Given the description of an element on the screen output the (x, y) to click on. 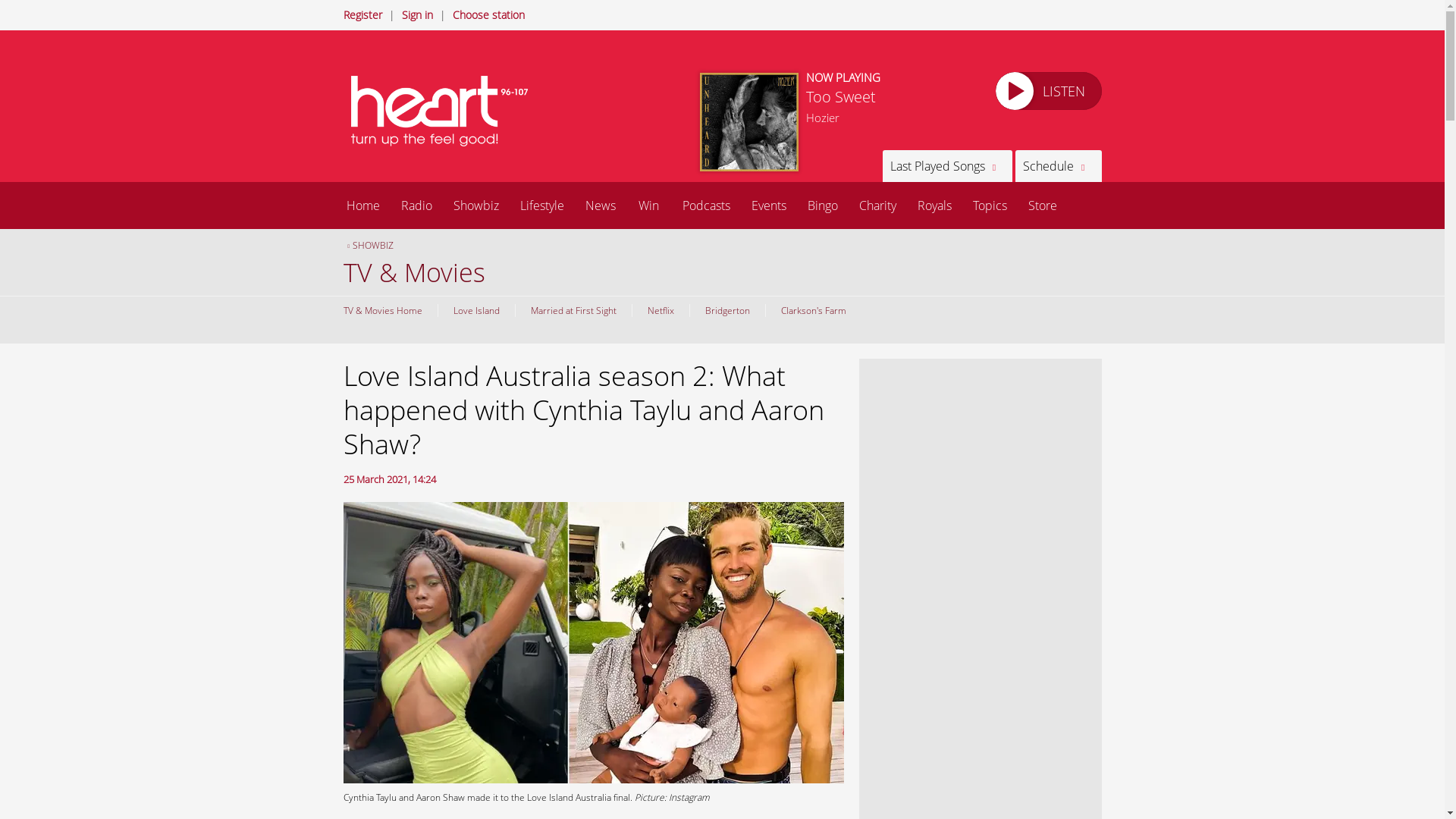
Bingo (821, 205)
Schedule (1057, 165)
Choose station (487, 14)
Charity (876, 205)
Last Played Songs (946, 165)
Showbiz (475, 205)
Sign in (416, 14)
LISTEN (1047, 90)
Register (361, 14)
SHOWBIZ (367, 245)
Netflix (659, 309)
Win (648, 205)
Topics (988, 205)
Lifestyle (542, 205)
Royals (934, 205)
